Given the description of an element on the screen output the (x, y) to click on. 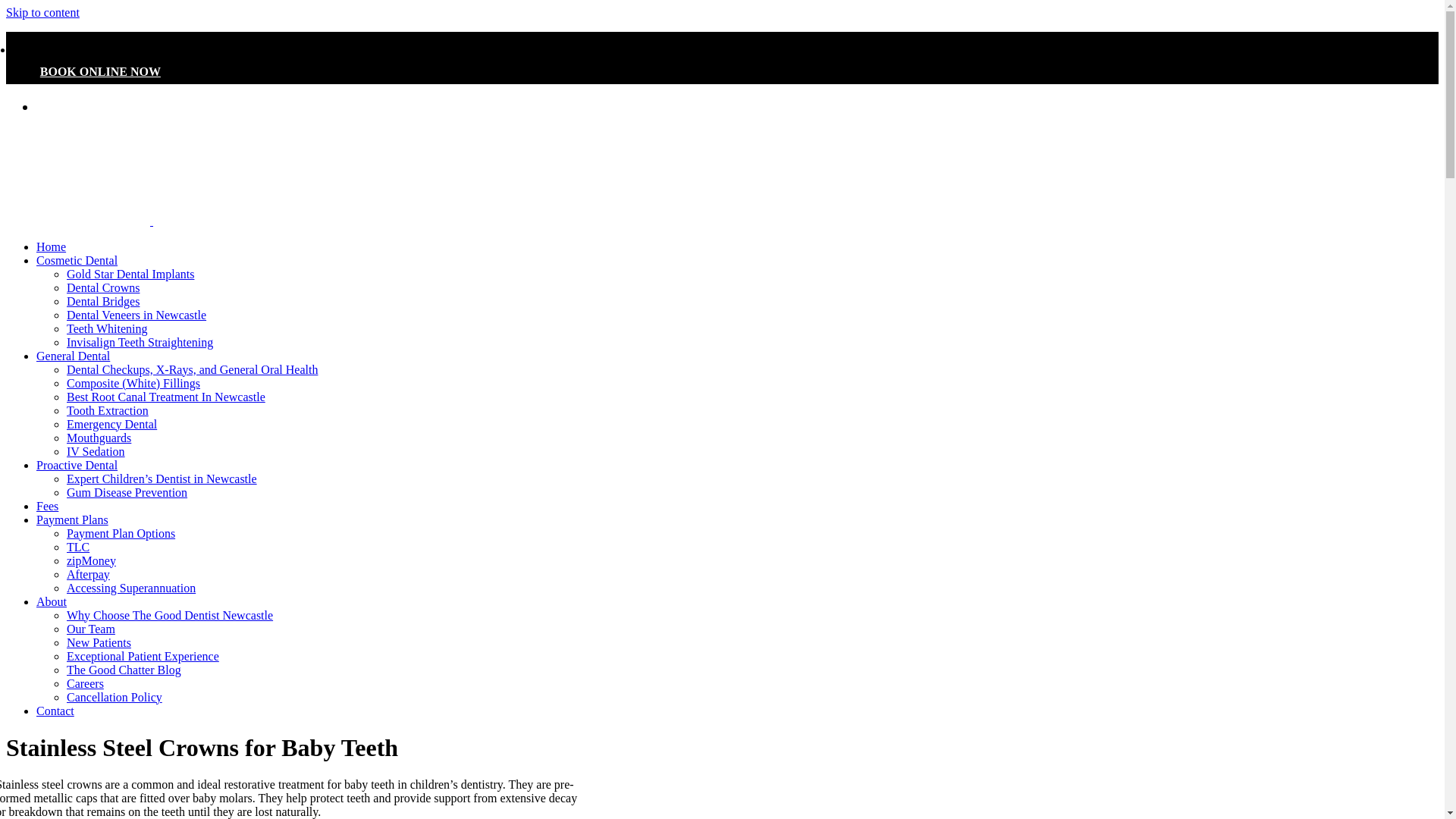
Dental Crowns (102, 287)
Teeth Whitening (107, 328)
Best Root Canal Treatment In Newcastle (165, 396)
Payment Plans (71, 519)
Emergency Dental (111, 423)
Gold Star Dental Implants (129, 273)
Dental Bridges (102, 300)
Dental Veneers in Newcastle (136, 314)
Tooth Extraction (107, 410)
Payment Plan Options (120, 533)
Invisalign Teeth Straightening (139, 341)
Afterpay (88, 574)
BOOK ONLINE NOW (100, 71)
TLC (77, 546)
zipMoney (91, 560)
